Given the description of an element on the screen output the (x, y) to click on. 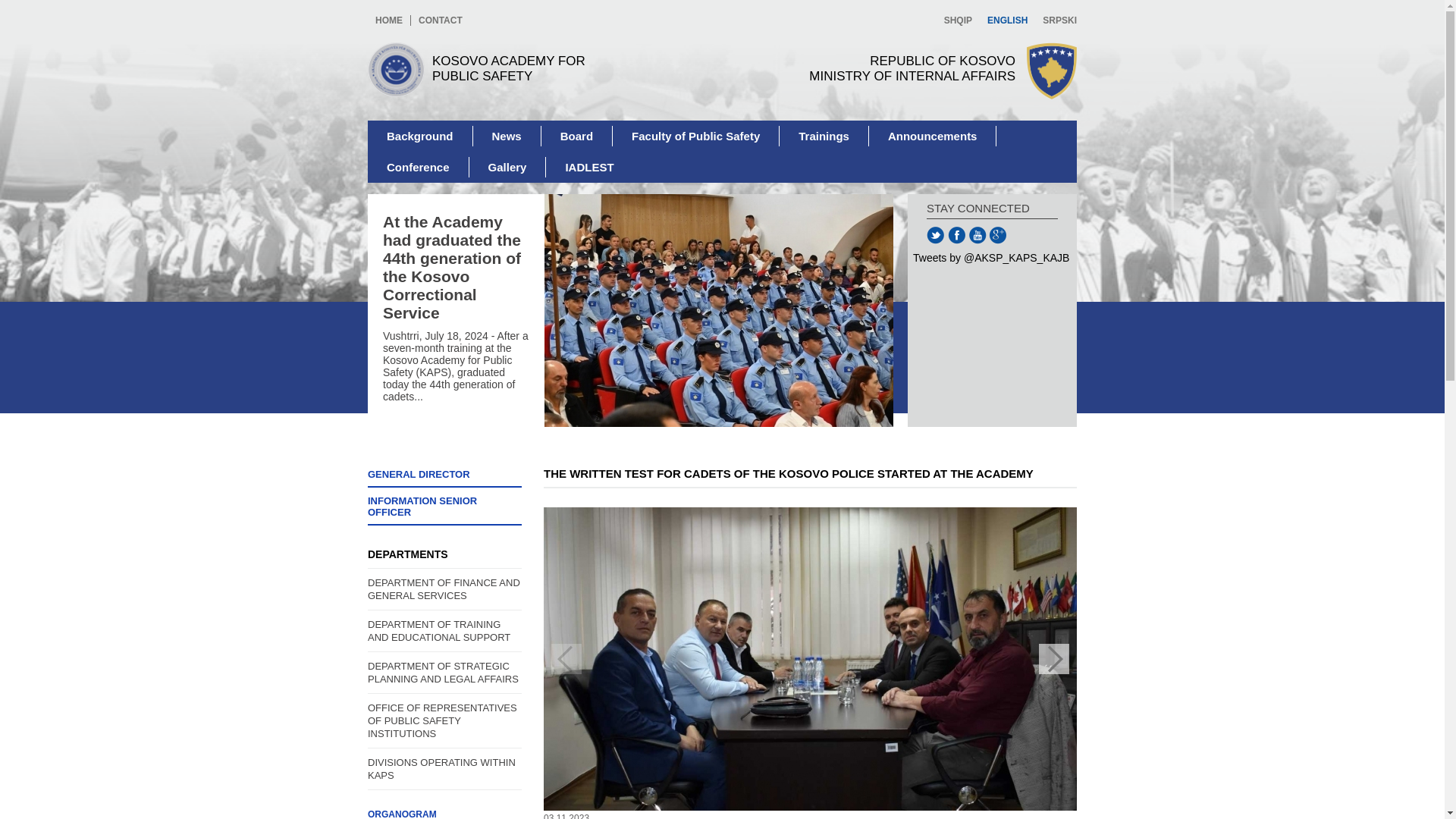
ENGLISH (1007, 20)
ORGANOGRAM (874, 70)
Board (444, 812)
DEPARTMENT OF STRATEGIC PLANNING AND LEGAL AFFAIRS (576, 136)
GENERAL DIRECTOR (444, 672)
Announcements (444, 477)
Conference (933, 136)
HOME (418, 167)
Trainings (389, 20)
Gallery (823, 136)
KOSOVO ACADEMY FOR PUBLIC SAFETY (507, 167)
DEPARTMENT OF FINANCE AND GENERAL SERVICES (494, 69)
IADLEST (444, 589)
Background (588, 167)
